Given the description of an element on the screen output the (x, y) to click on. 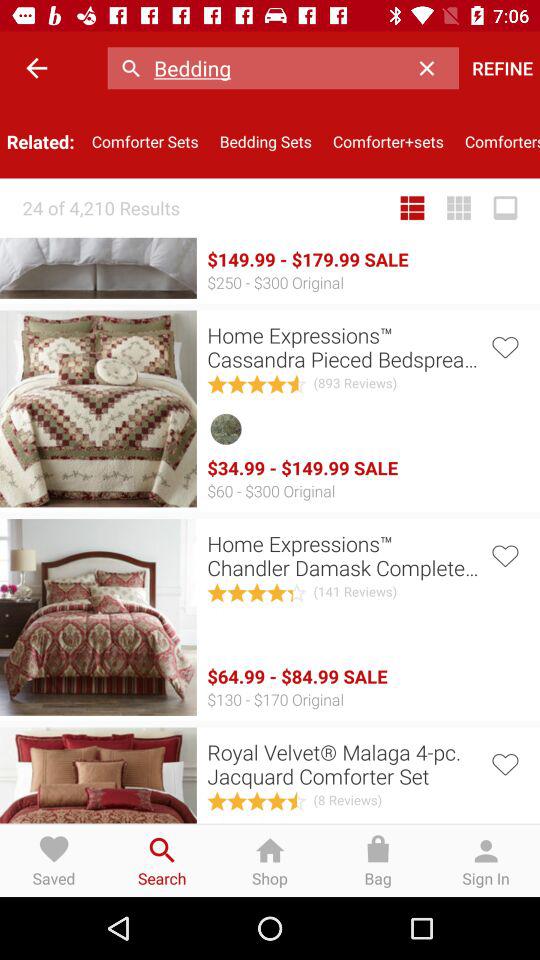
choose icon next to the refine (432, 67)
